Given the description of an element on the screen output the (x, y) to click on. 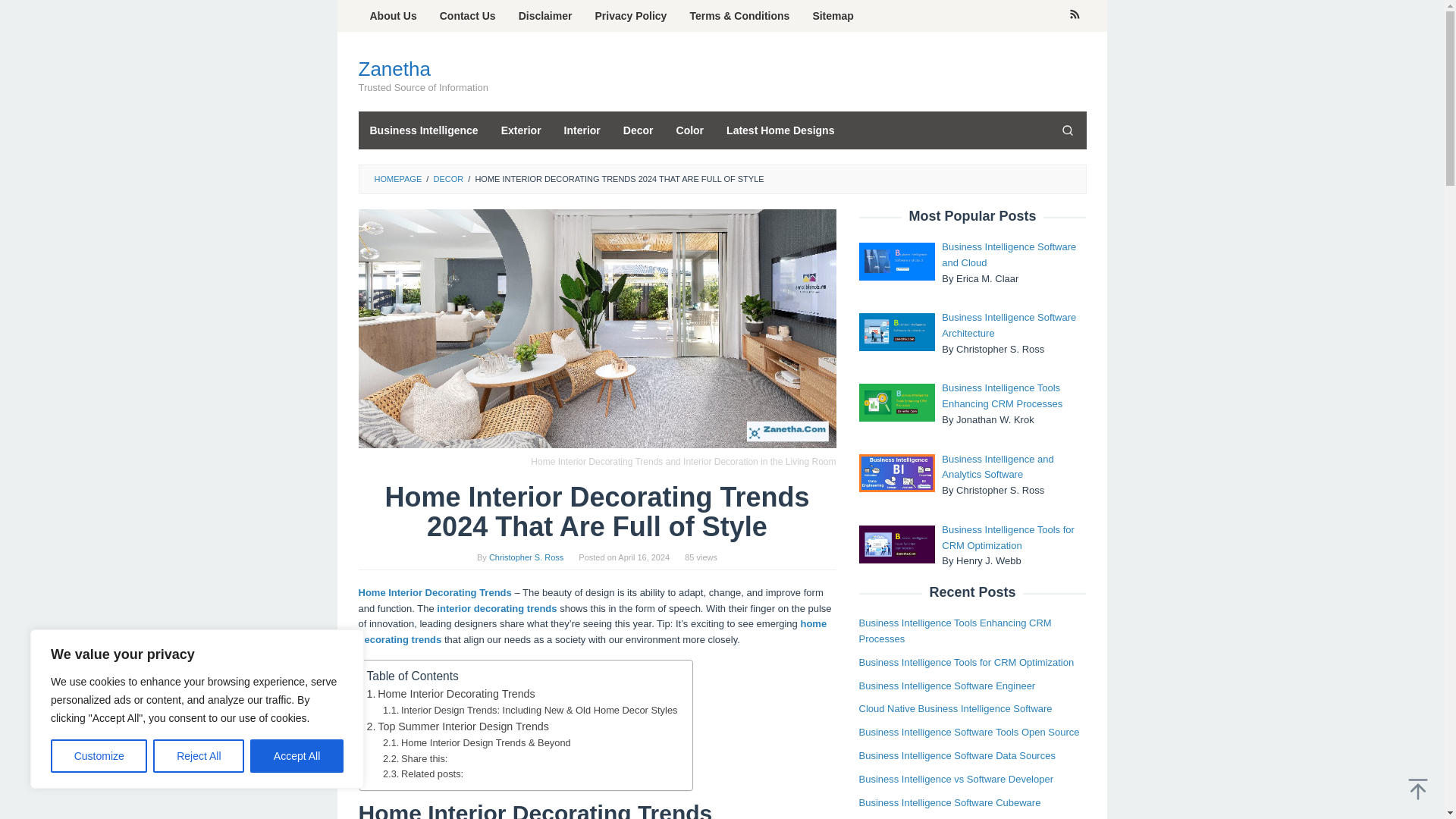
Business Intelligence (423, 130)
interior decorating trends (496, 608)
HOMEPAGE (398, 178)
Zanetha (393, 68)
About Us (393, 15)
Home Interior Decorating Trends (450, 693)
Privacy Policy (630, 15)
Customize (98, 756)
Latest Home Designs (779, 130)
Disclaimer (544, 15)
Contact Us (467, 15)
Related posts: (422, 774)
home decorating trends (592, 631)
Home Interior Decorating Trends (450, 693)
